Given the description of an element on the screen output the (x, y) to click on. 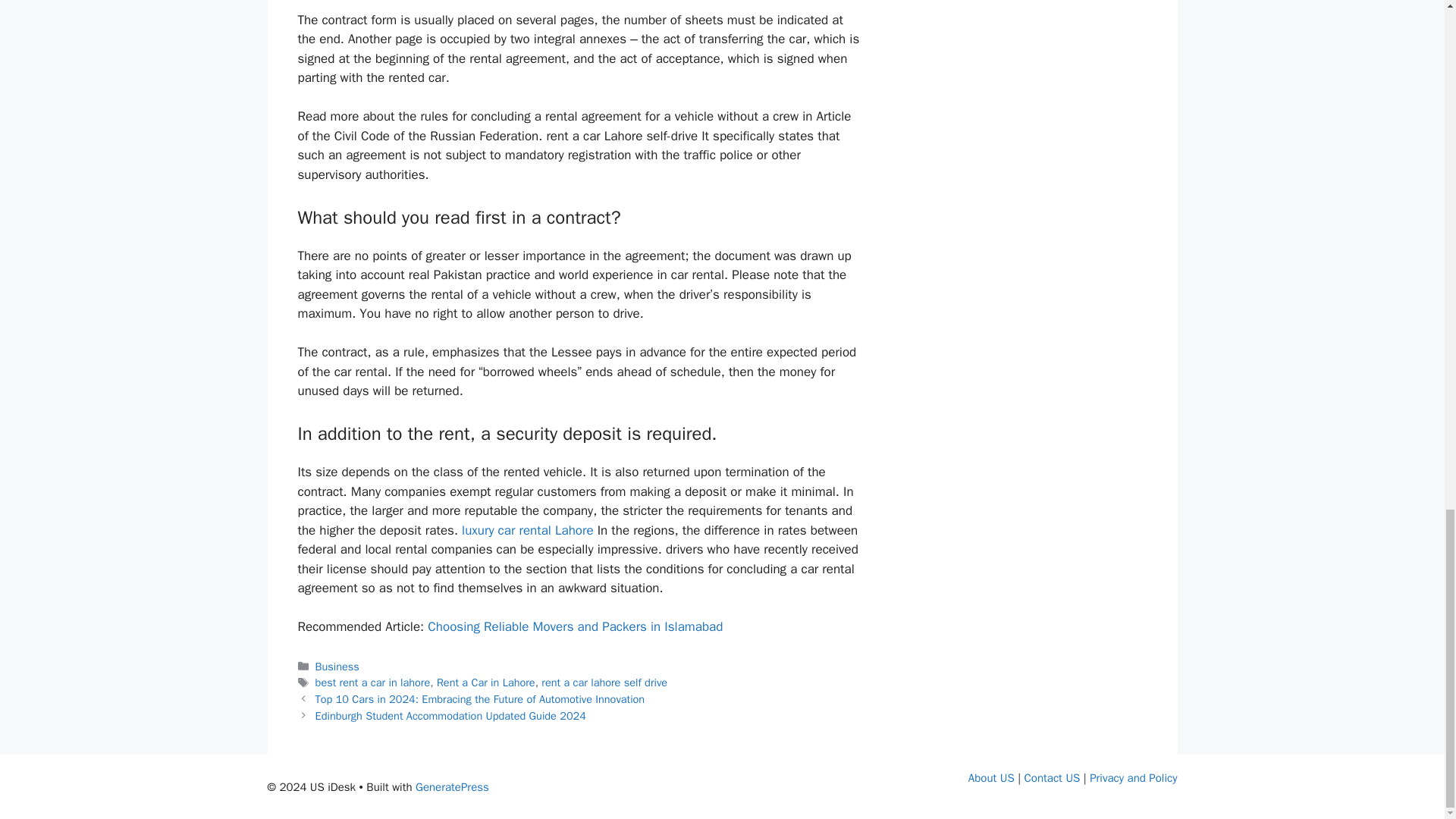
Rent a Car in Lahore (485, 682)
rent a car lahore self drive (603, 682)
Business (337, 666)
luxury car rental Lahore (526, 530)
best rent a car in lahore (372, 682)
Contact US (1052, 777)
About US (991, 777)
Edinburgh Student Accommodation Updated Guide 2024 (450, 715)
Choosing Reliable Movers and Packers in Islamabad (575, 626)
Privacy and Policy (1132, 777)
Scroll back to top (1406, 172)
GeneratePress (451, 786)
